Given the description of an element on the screen output the (x, y) to click on. 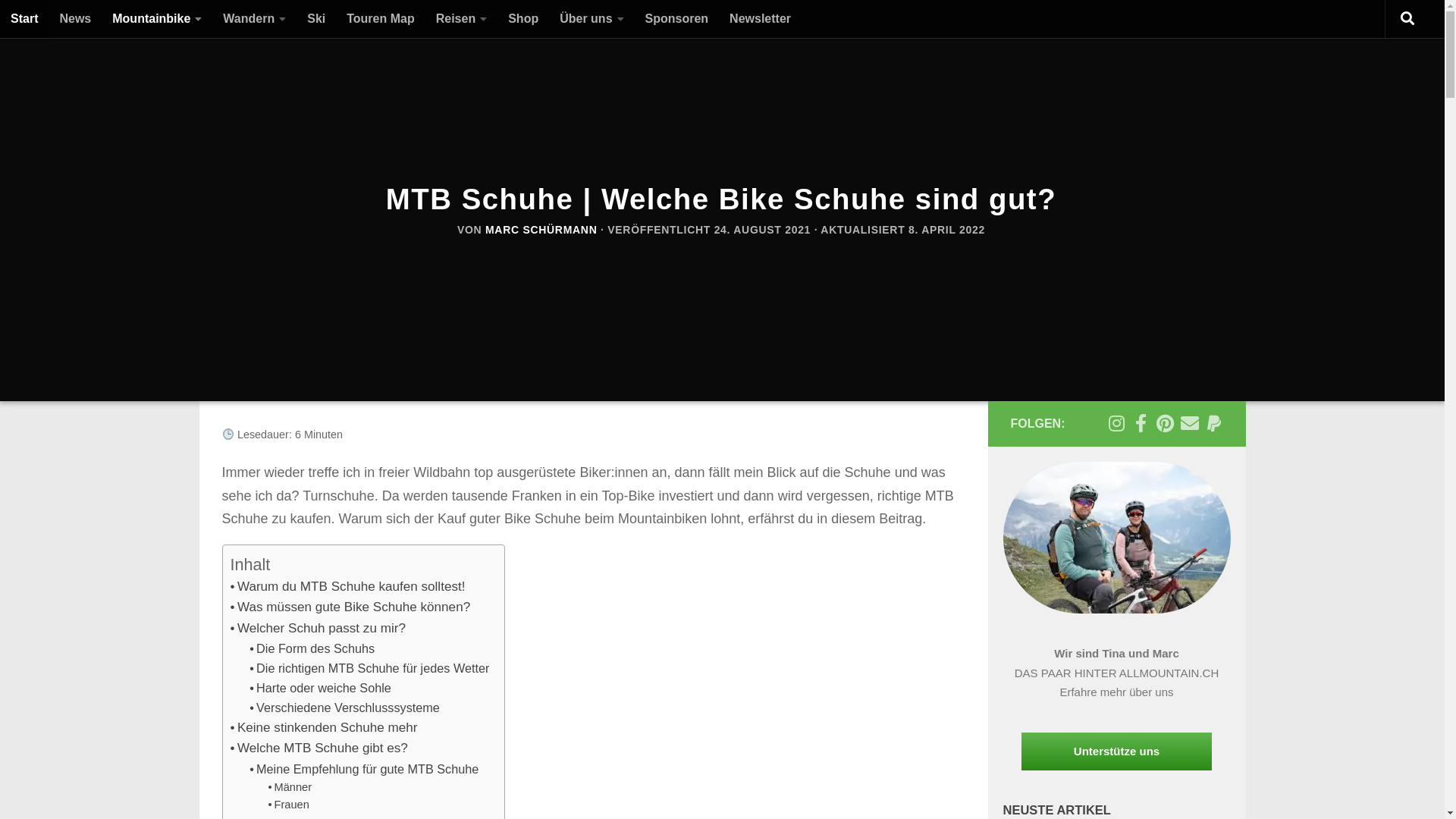
Welcher Schuh passt zu mir? Element type: text (317, 628)
Welche MTB Schuhe gibt es? Element type: text (318, 747)
Mountainbike Element type: text (156, 18)
Reisen Element type: text (461, 18)
Die Form des Schuhs Element type: text (311, 648)
Follow me on Instagram Element type: hover (1116, 423)
Follow u on Pinterest Element type: hover (1164, 423)
Wandern Element type: text (254, 18)
Touren Map Element type: text (379, 18)
Unter dem Inhalt Element type: text (68, 20)
Frauen Element type: text (288, 804)
News Element type: text (74, 18)
Follow me on Facebook Element type: hover (1140, 423)
Ski Element type: text (315, 18)
Verschiedene Verschlusssysteme Element type: text (344, 707)
Sponsoren Element type: text (676, 18)
Newsletter Element type: text (759, 18)
Harte oder weiche Sohle Element type: text (320, 687)
Warum du MTB Schuhe kaufen solltest! Element type: text (347, 586)
Folge uns auf Email Element type: hover (1188, 423)
Shop Element type: text (523, 18)
Keine stinkenden Schuhe mehr Element type: text (323, 727)
Start Element type: text (24, 18)
Folge uns auf Paypal Element type: hover (1213, 423)
